Given the description of an element on the screen output the (x, y) to click on. 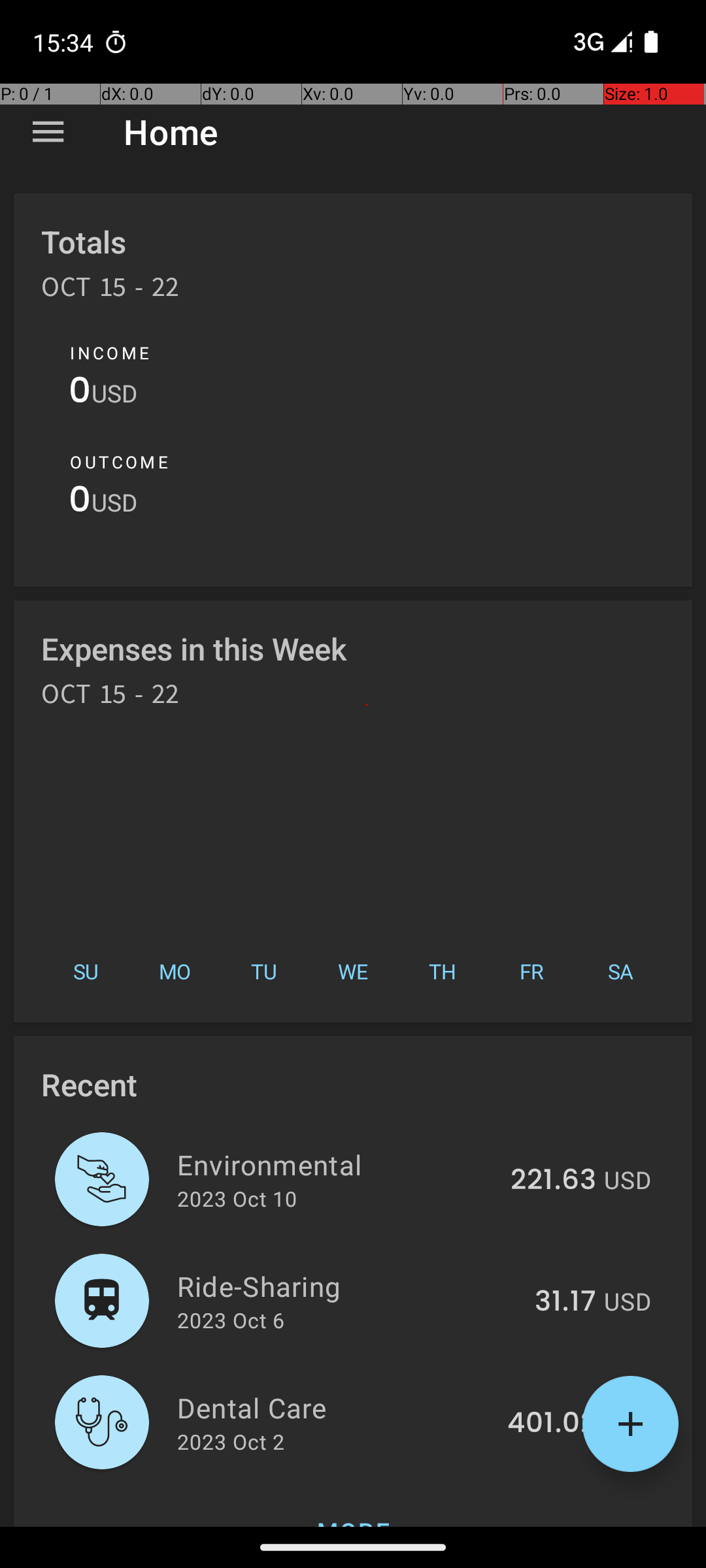
Environmental Element type: android.widget.TextView (336, 1164)
221.63 Element type: android.widget.TextView (552, 1180)
31.17 Element type: android.widget.TextView (565, 1301)
2023 Oct 2 Element type: android.widget.TextView (230, 1441)
401.02 Element type: android.widget.TextView (551, 1423)
